Given the description of an element on the screen output the (x, y) to click on. 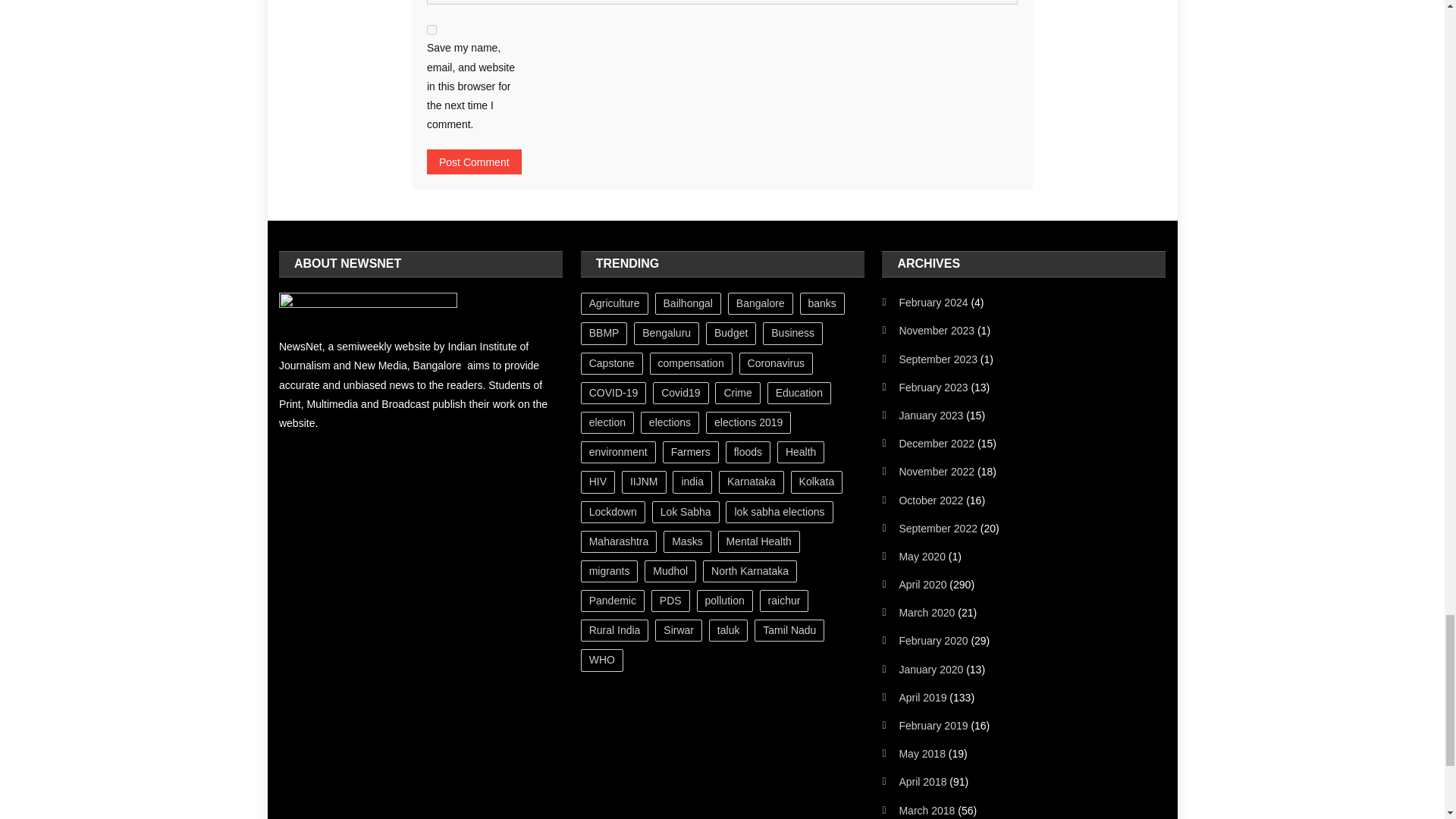
Post Comment (473, 161)
yes (431, 30)
